Given the description of an element on the screen output the (x, y) to click on. 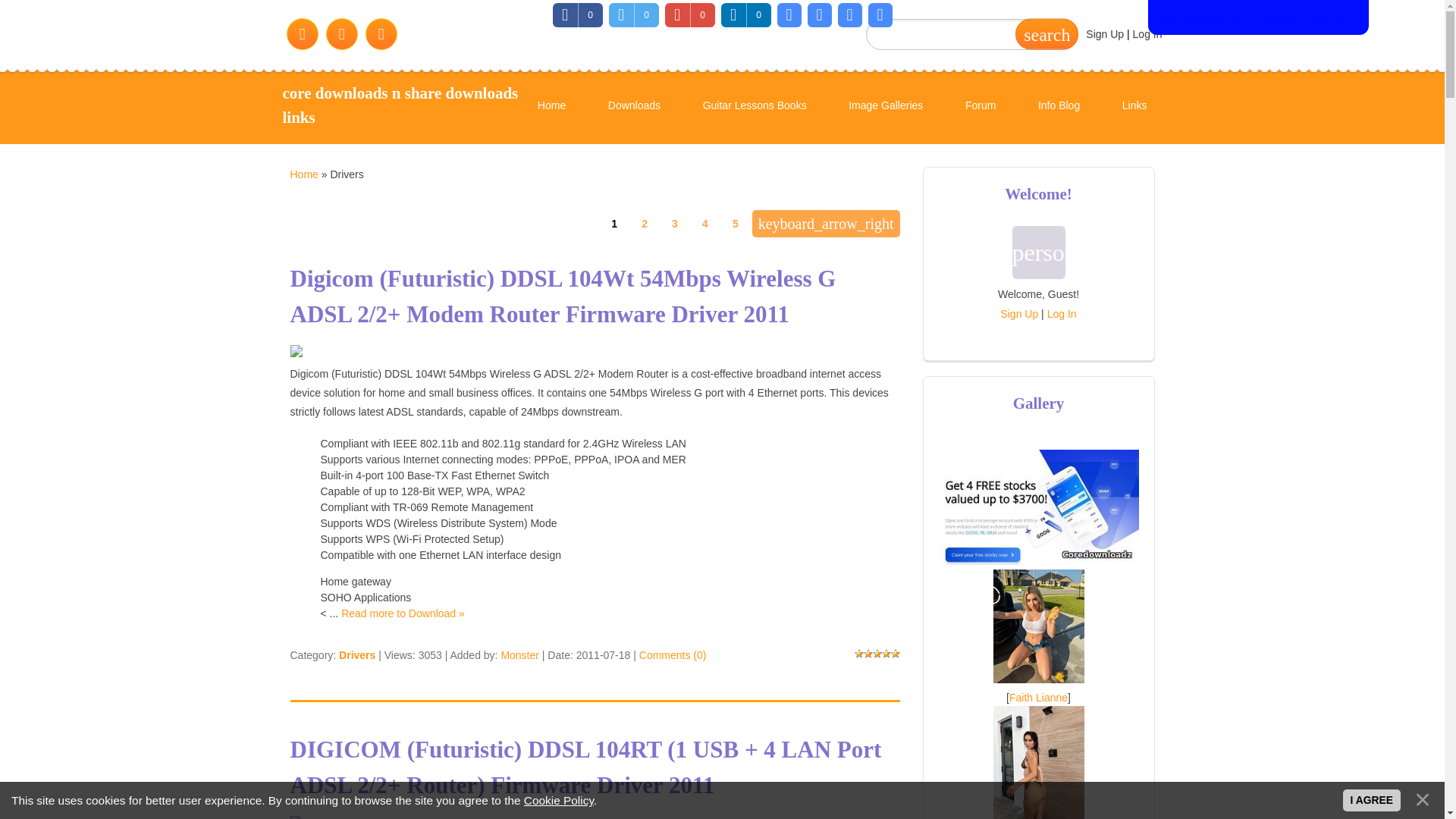
Home (400, 105)
Home (303, 174)
Sign Up (1019, 313)
Search (1046, 33)
Search (1046, 33)
Sign Up (1105, 33)
Watch Movies (570, 182)
Info Blog (1058, 105)
Version for visually impaired (1258, 17)
Log In (1146, 33)
core downloads n share downloads links (400, 105)
Guitar Lessons Books (754, 105)
Downloads (633, 105)
2 (644, 223)
Image Galleries (884, 105)
